Given the description of an element on the screen output the (x, y) to click on. 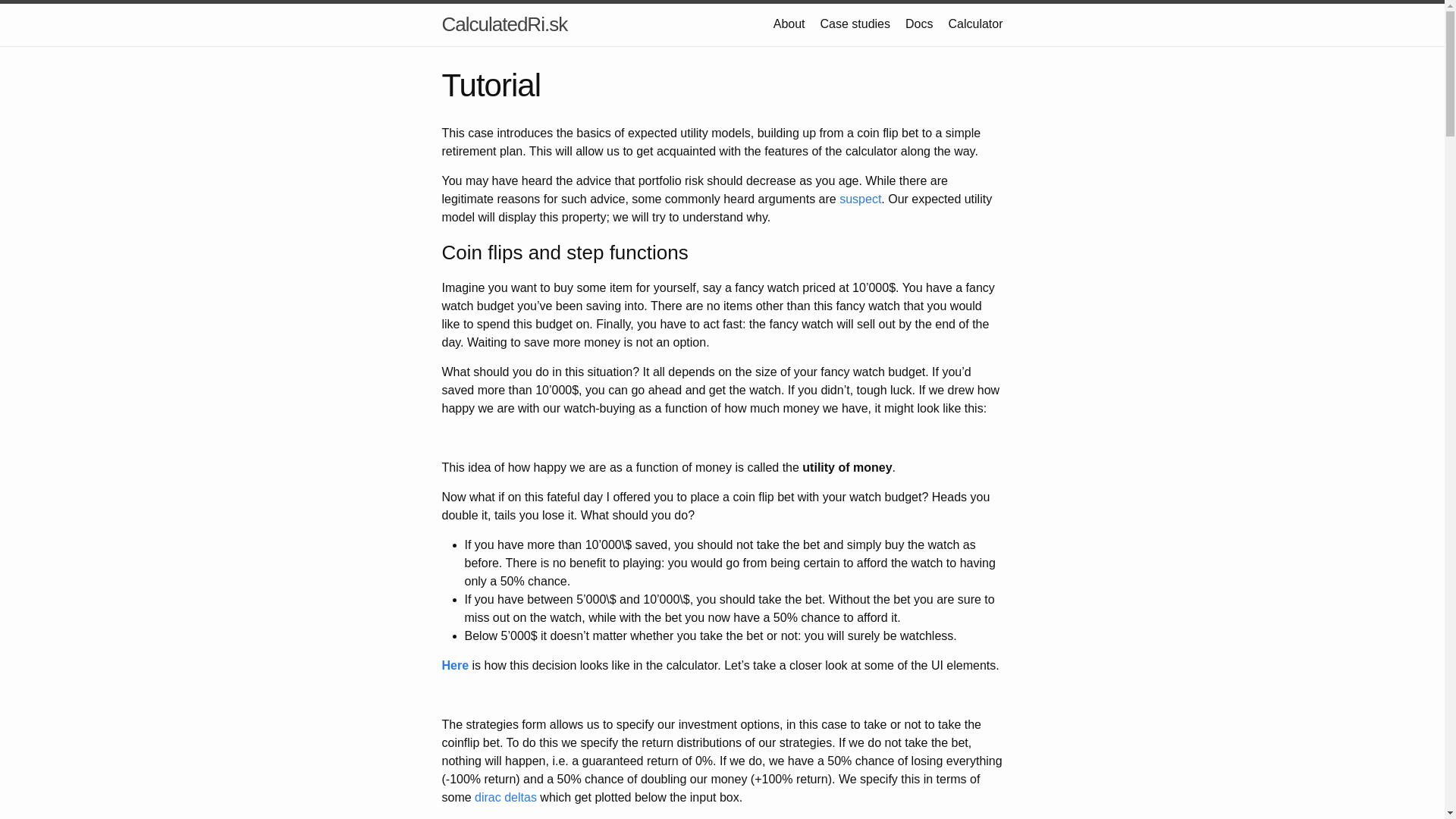
suspect (860, 198)
CalculatedRi.sk (504, 24)
dirac deltas (505, 797)
Here (454, 665)
Calculator (975, 23)
Docs (919, 23)
Case studies (856, 23)
About (789, 23)
